Given the description of an element on the screen output the (x, y) to click on. 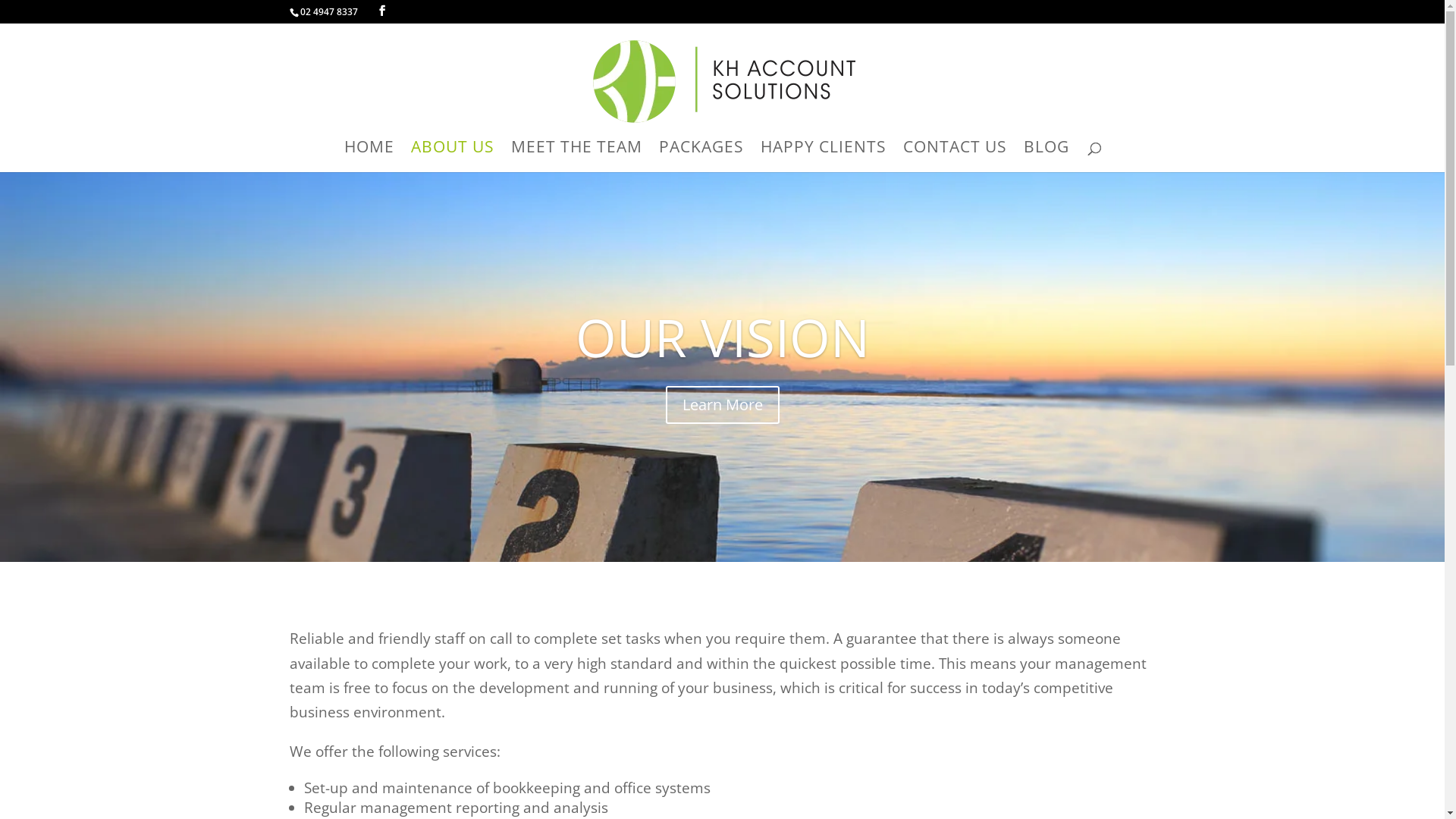
HAPPY CLIENTS Element type: text (822, 156)
MEET THE TEAM Element type: text (576, 156)
ABOUT US Element type: text (452, 156)
PACKAGES Element type: text (700, 156)
Learn More Element type: text (722, 404)
CONTACT US Element type: text (954, 156)
HOME Element type: text (369, 156)
BLOG Element type: text (1046, 156)
